Given the description of an element on the screen output the (x, y) to click on. 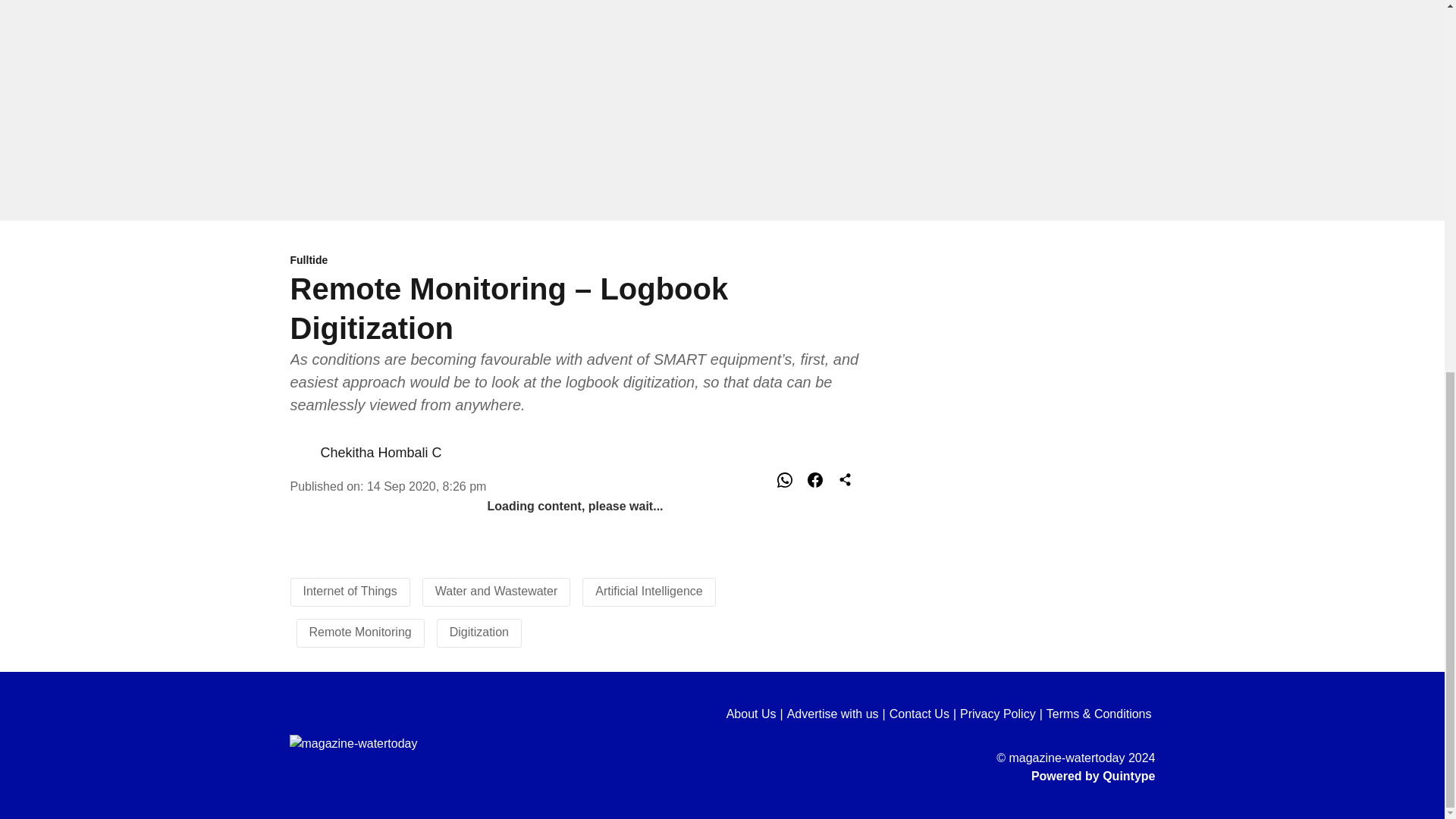
2020-09-14 12:26 (426, 486)
Internet of Things (349, 590)
Contact Us (924, 713)
About Us (756, 713)
Privacy Policy (1002, 713)
Remote Monitoring (360, 631)
Fulltide (574, 261)
Advertise with us (838, 713)
Digitization (478, 631)
Water and Wastewater (496, 590)
Chekitha Hombali C (380, 452)
Artificial Intelligence (648, 590)
